Given the description of an element on the screen output the (x, y) to click on. 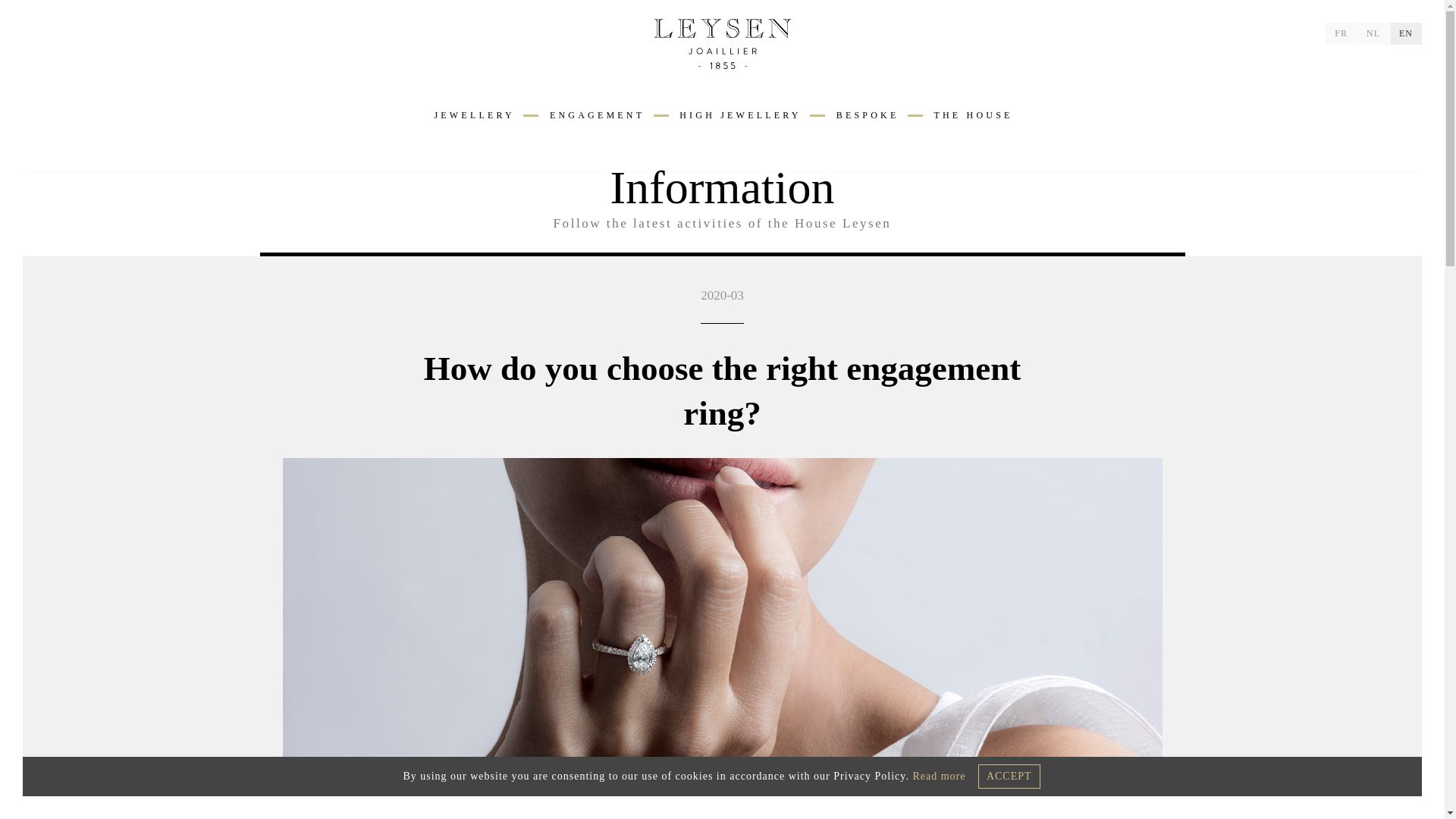
HIGH JEWELLERY (738, 114)
THE HOUSE (971, 114)
BESPOKE (866, 114)
EN (1406, 33)
JEWELLERY (471, 114)
ENGAGEMENT (596, 114)
Read more (938, 776)
FR (1340, 33)
ACCEPT (1009, 776)
NL (1372, 33)
